Given the description of an element on the screen output the (x, y) to click on. 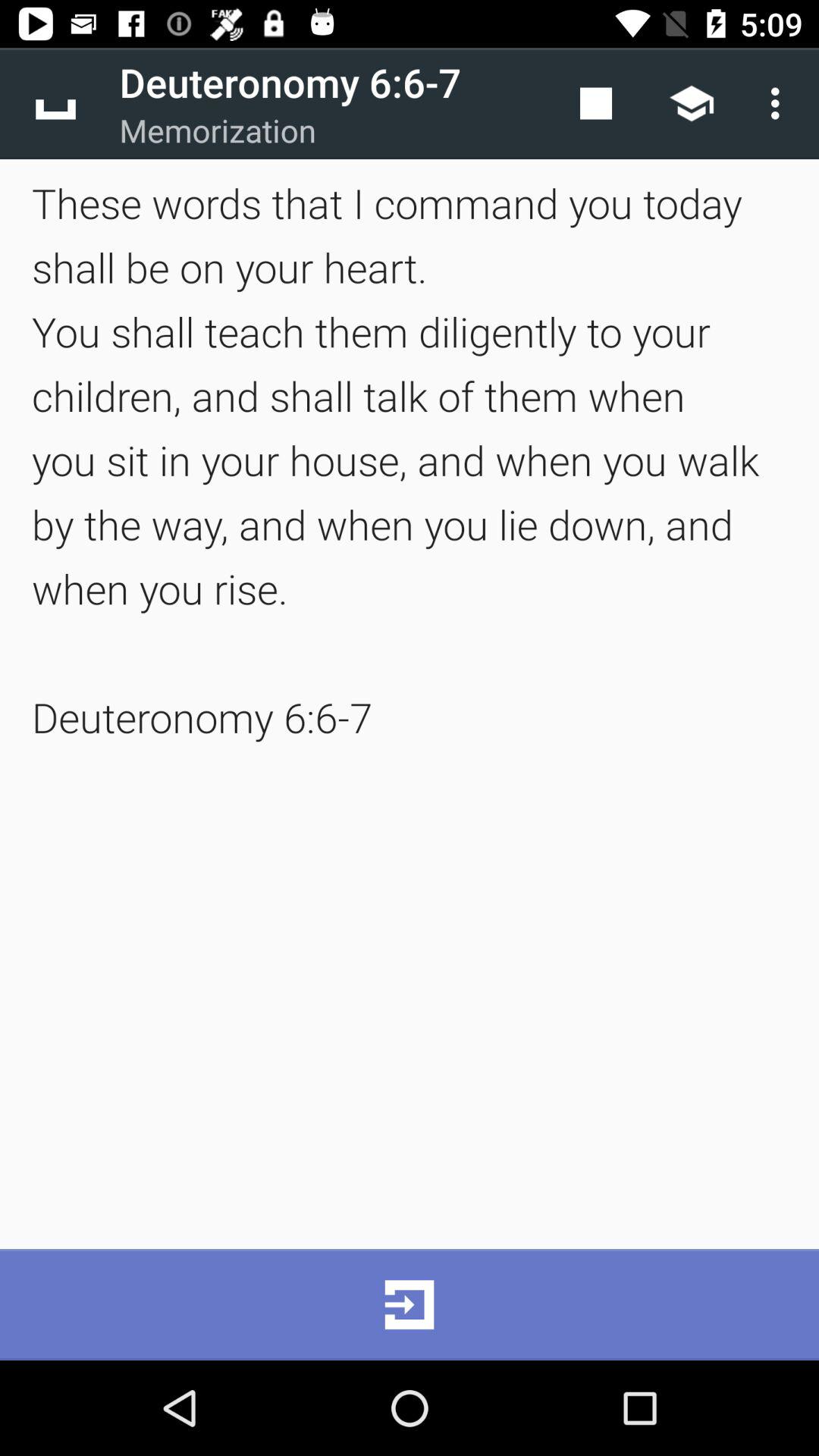
turn off icon to the left of deuteronomy 6 6 icon (55, 103)
